Given the description of an element on the screen output the (x, y) to click on. 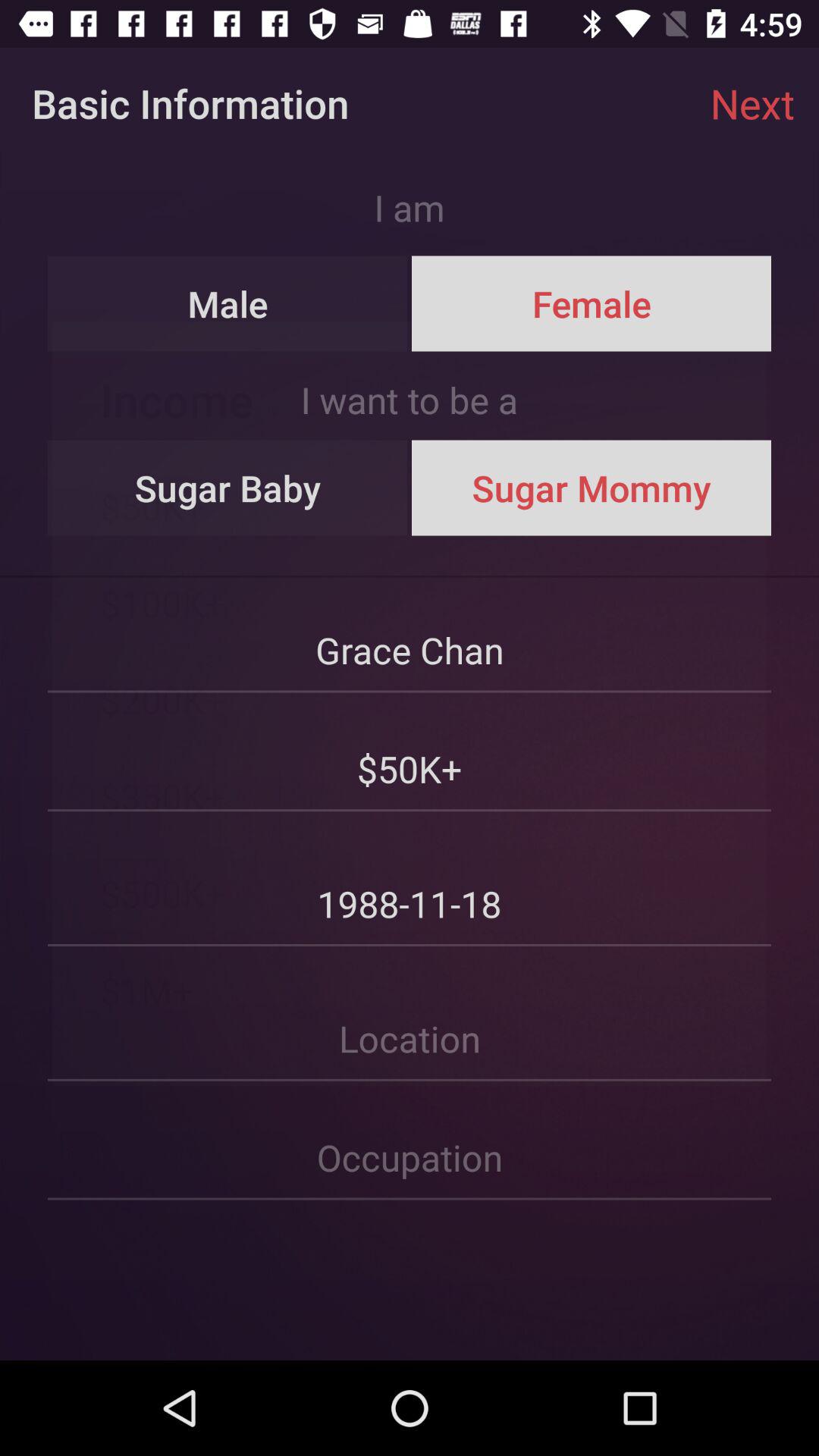
add your location (409, 1014)
